Given the description of an element on the screen output the (x, y) to click on. 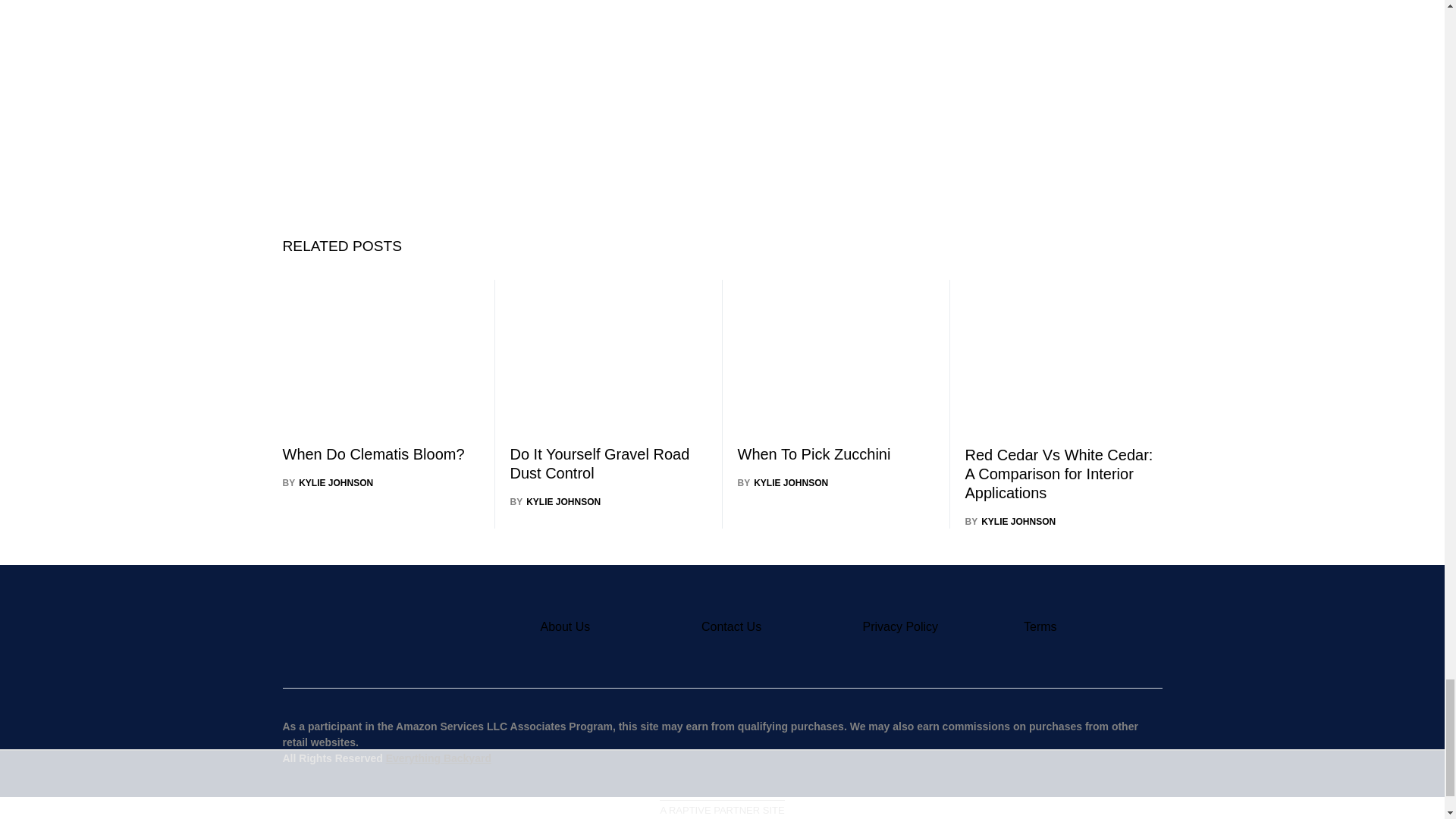
View all posts by Kylie Johnson (782, 482)
View all posts by Kylie Johnson (327, 482)
View all posts by Kylie Johnson (1009, 521)
View all posts by Kylie Johnson (554, 501)
